Given the description of an element on the screen output the (x, y) to click on. 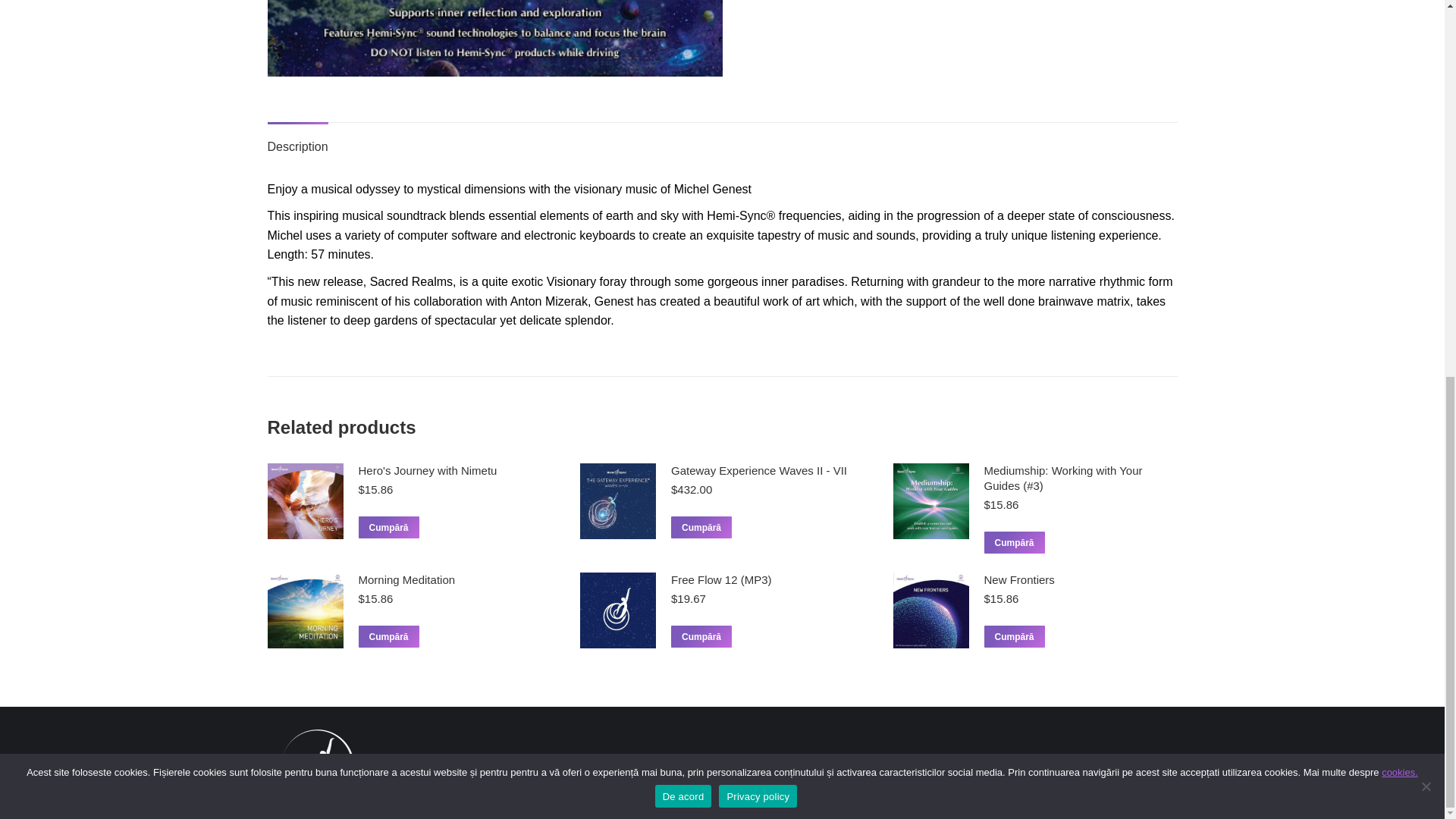
sacred-realms.jpg (494, 38)
